Given the description of an element on the screen output the (x, y) to click on. 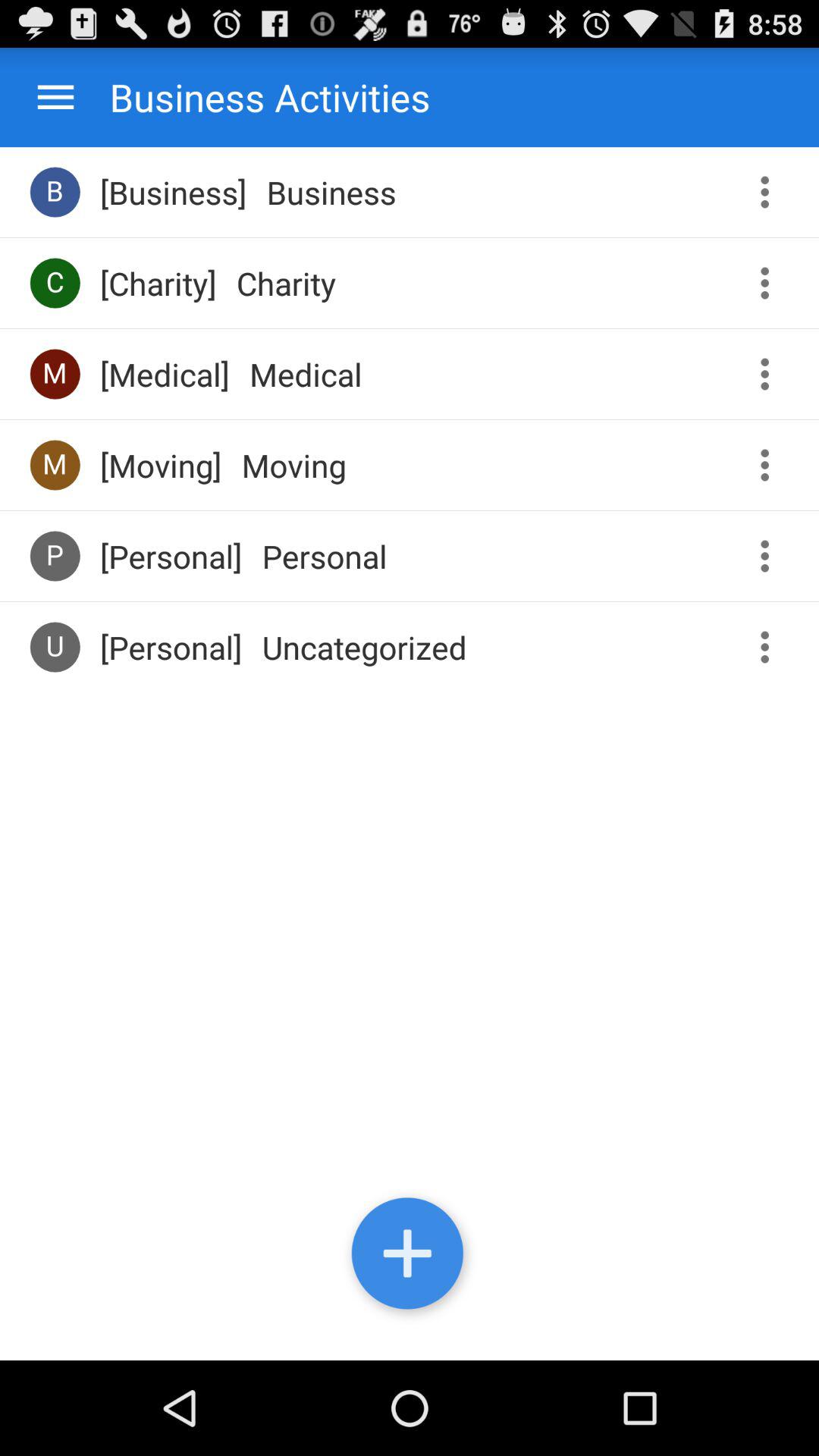
turn on the app to the right of the [personal] icon (364, 646)
